Given the description of an element on the screen output the (x, y) to click on. 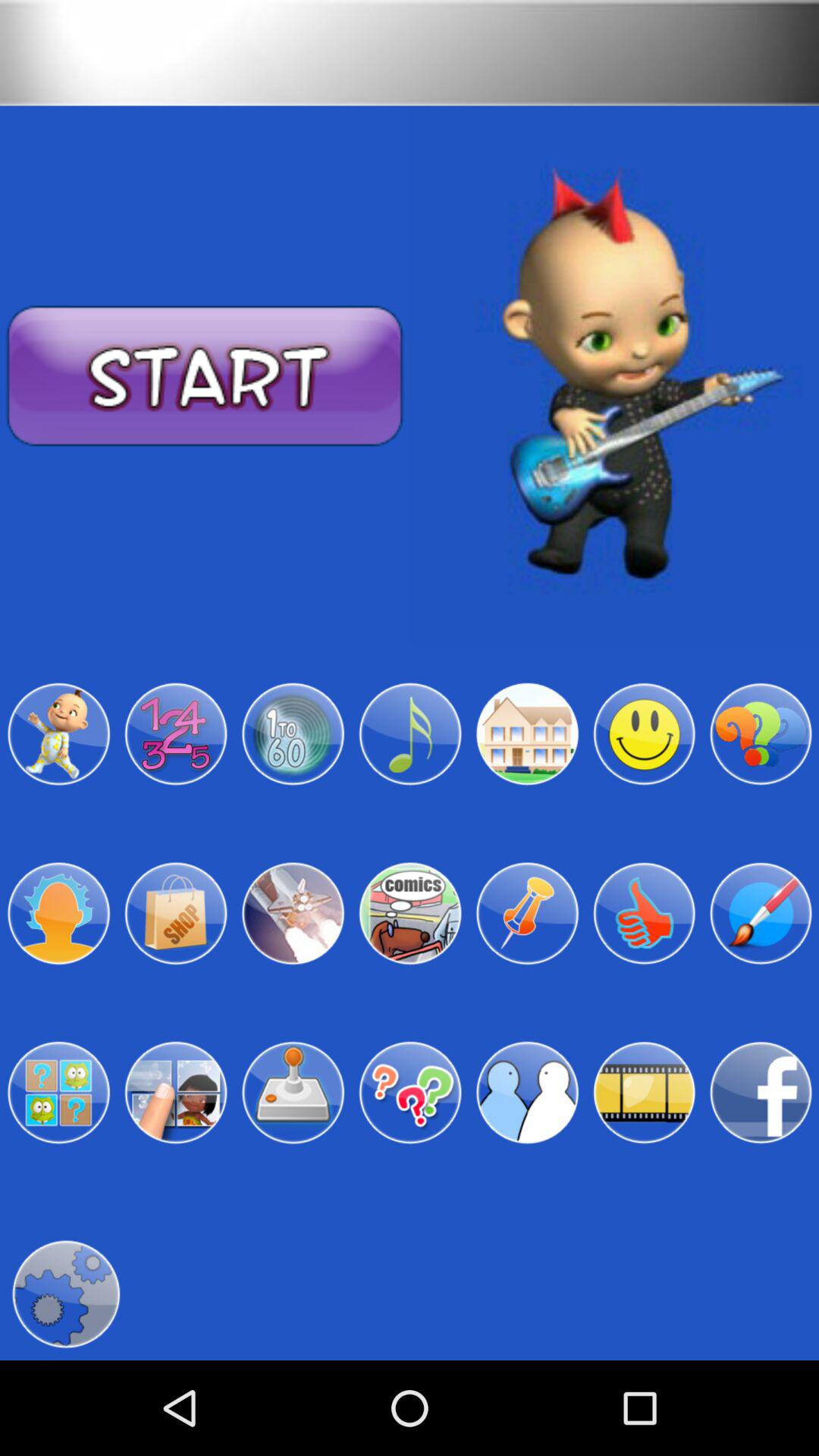
emoji button (643, 734)
